Given the description of an element on the screen output the (x, y) to click on. 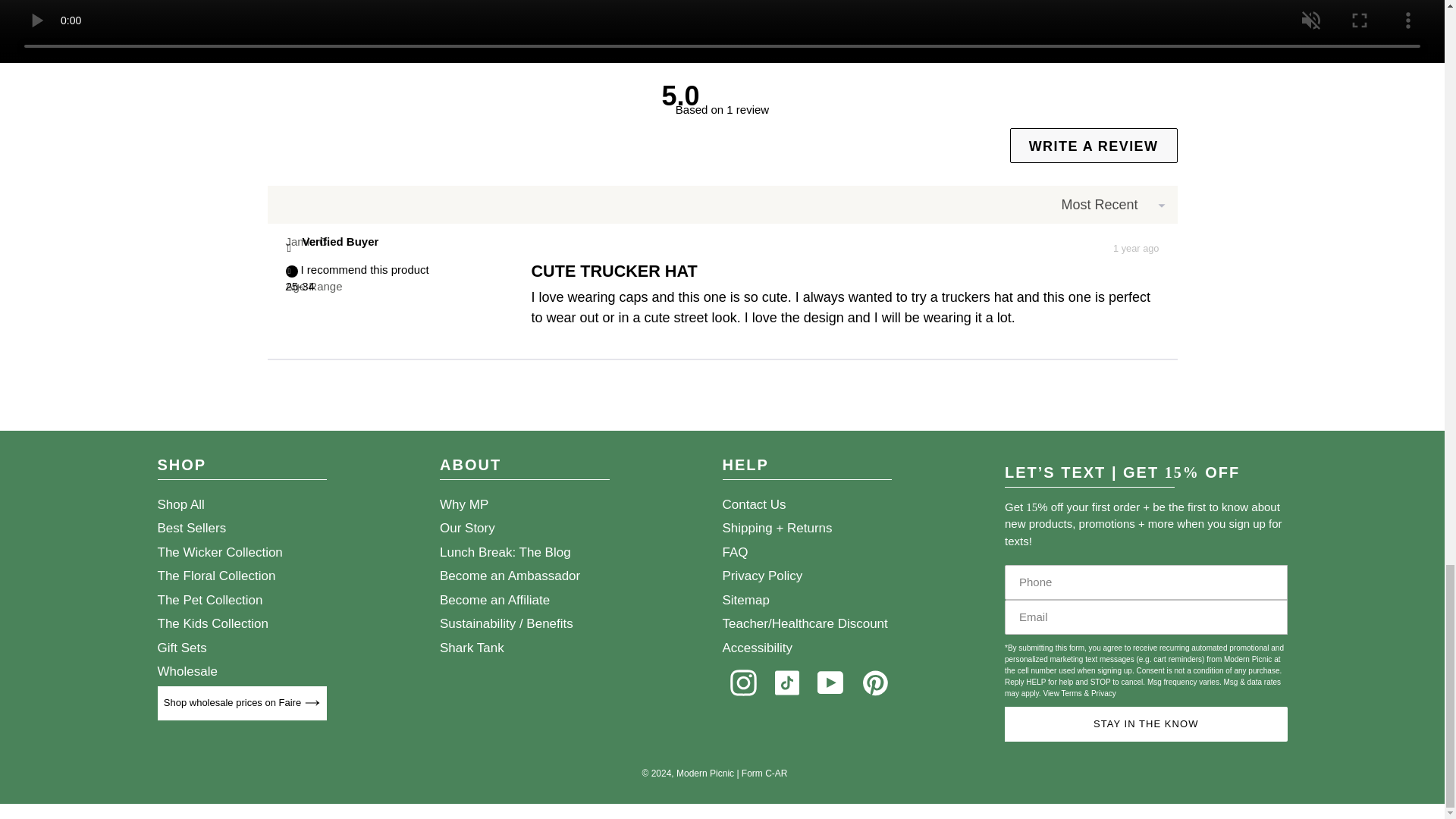
Modern Picnic on Pinterest (875, 682)
Modern Picnic on YouTube (830, 682)
Modern Picnic on Instagram (742, 682)
Modern Picnic on Tiktok (786, 682)
